Given the description of an element on the screen output the (x, y) to click on. 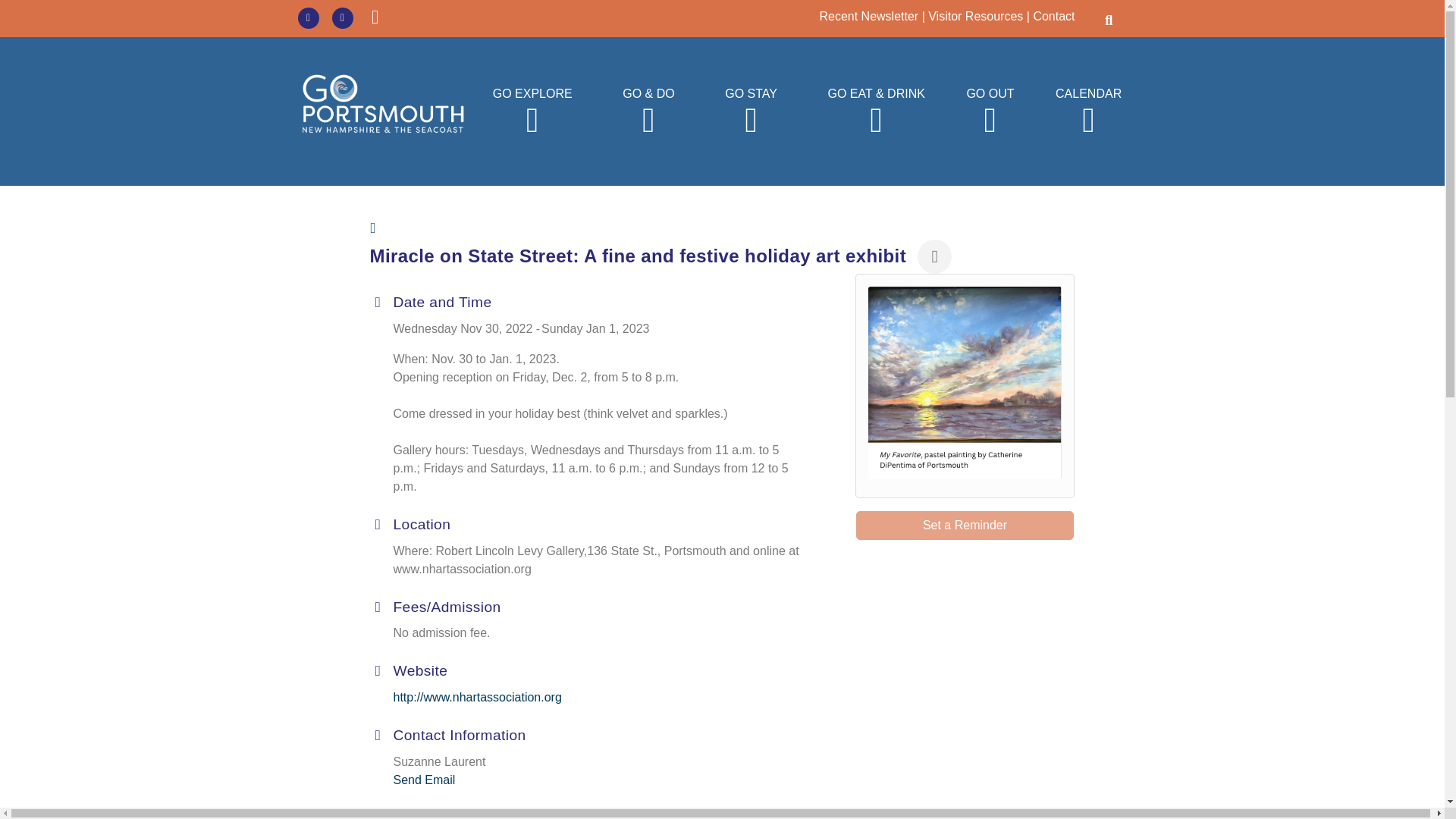
Recent Newsletter (868, 15)
Visitor Resources (975, 15)
Contact (1053, 15)
GO EXPLORE (531, 111)
